Given the description of an element on the screen output the (x, y) to click on. 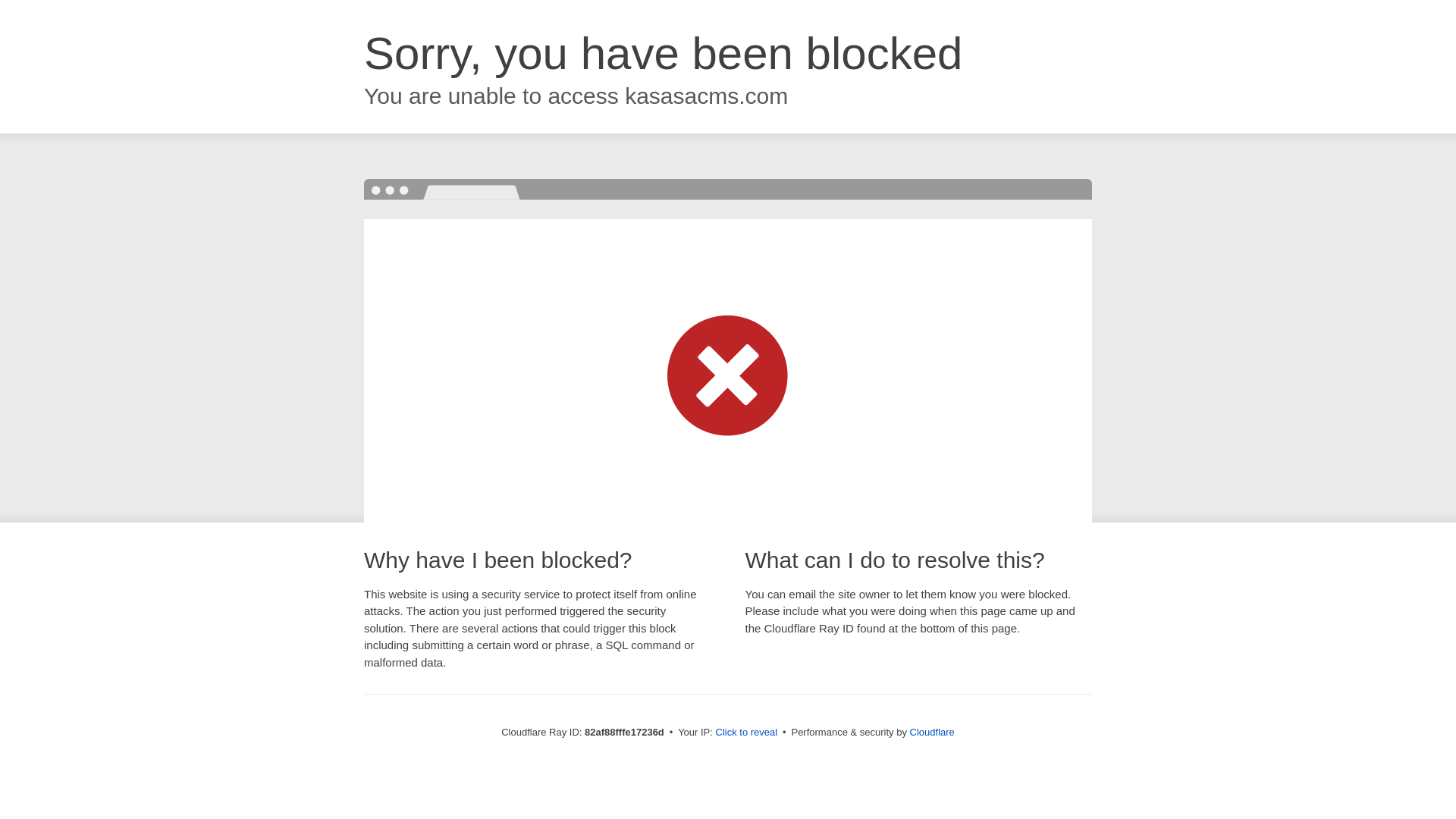
Click to reveal Element type: text (746, 732)
Cloudflare Element type: text (932, 731)
